Given the description of an element on the screen output the (x, y) to click on. 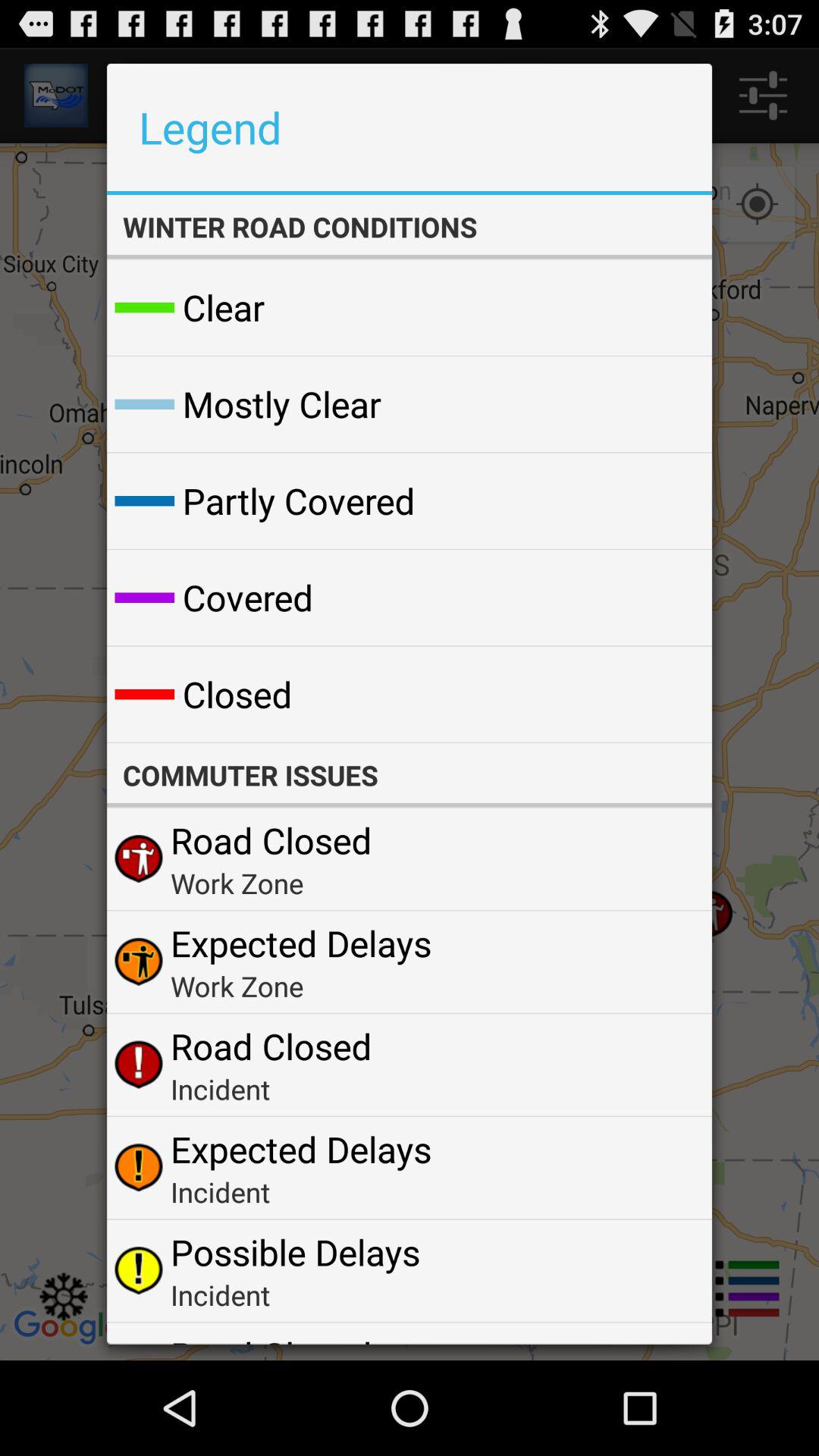
tap the commuter issues (409, 775)
